Given the description of an element on the screen output the (x, y) to click on. 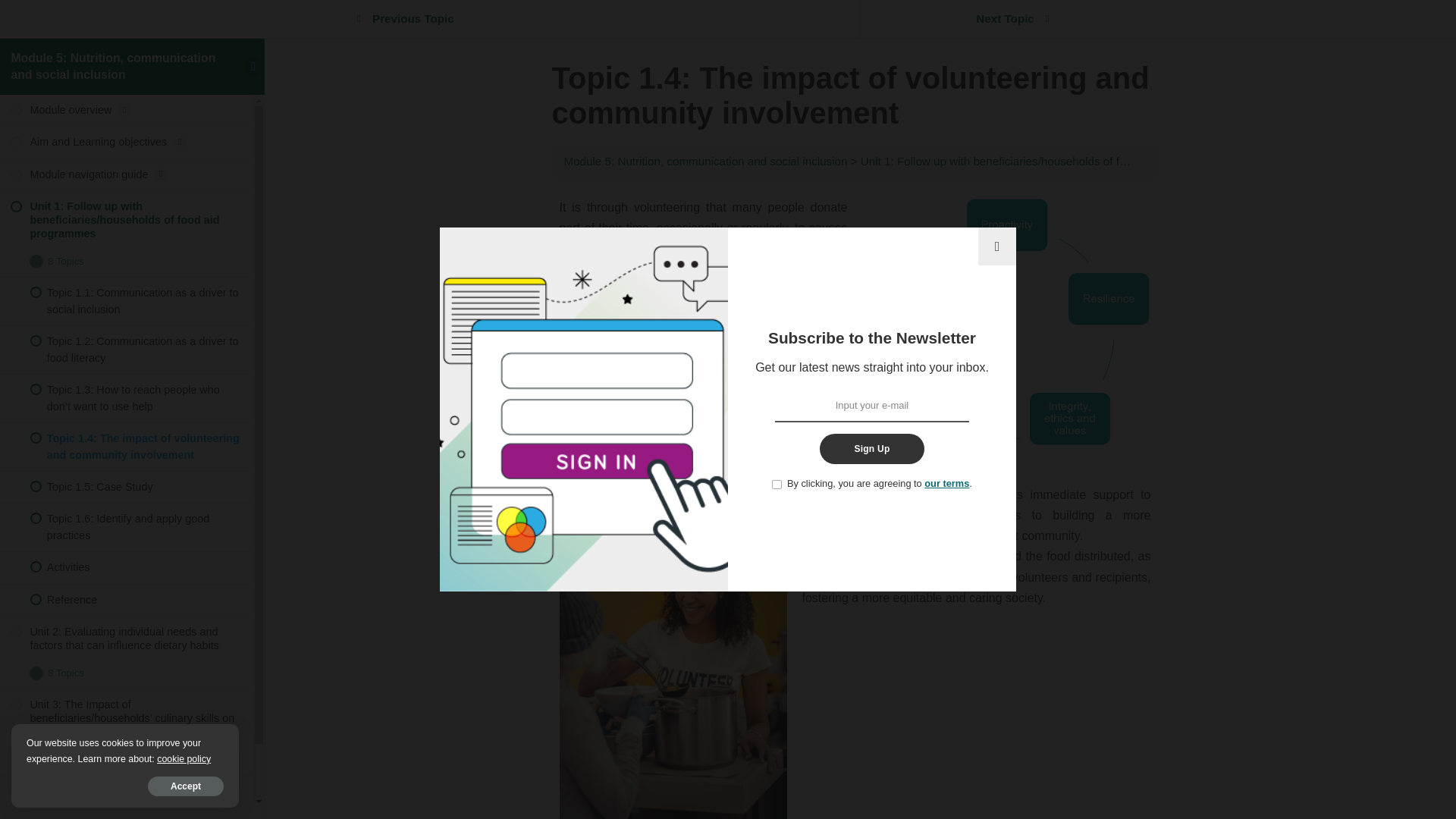
Activities (126, 567)
Aim and Learning objectives (126, 142)
Topic 1.1: Communication as a driver to social inclusion (126, 300)
Next Topic (1007, 19)
Module 5: Nutrition, communication and social inclusion (705, 160)
Sign Up (871, 449)
Module overview (126, 110)
Module navigation guide (126, 174)
Module 5: Nutrition, communication and social inclusion (112, 65)
Topic 1.2: Communication as a driver to food literacy (126, 349)
Previous Topic (410, 19)
Topic 1.6: Identify and apply good practices (126, 526)
our terms (946, 482)
Activities (126, 790)
